Given the description of an element on the screen output the (x, y) to click on. 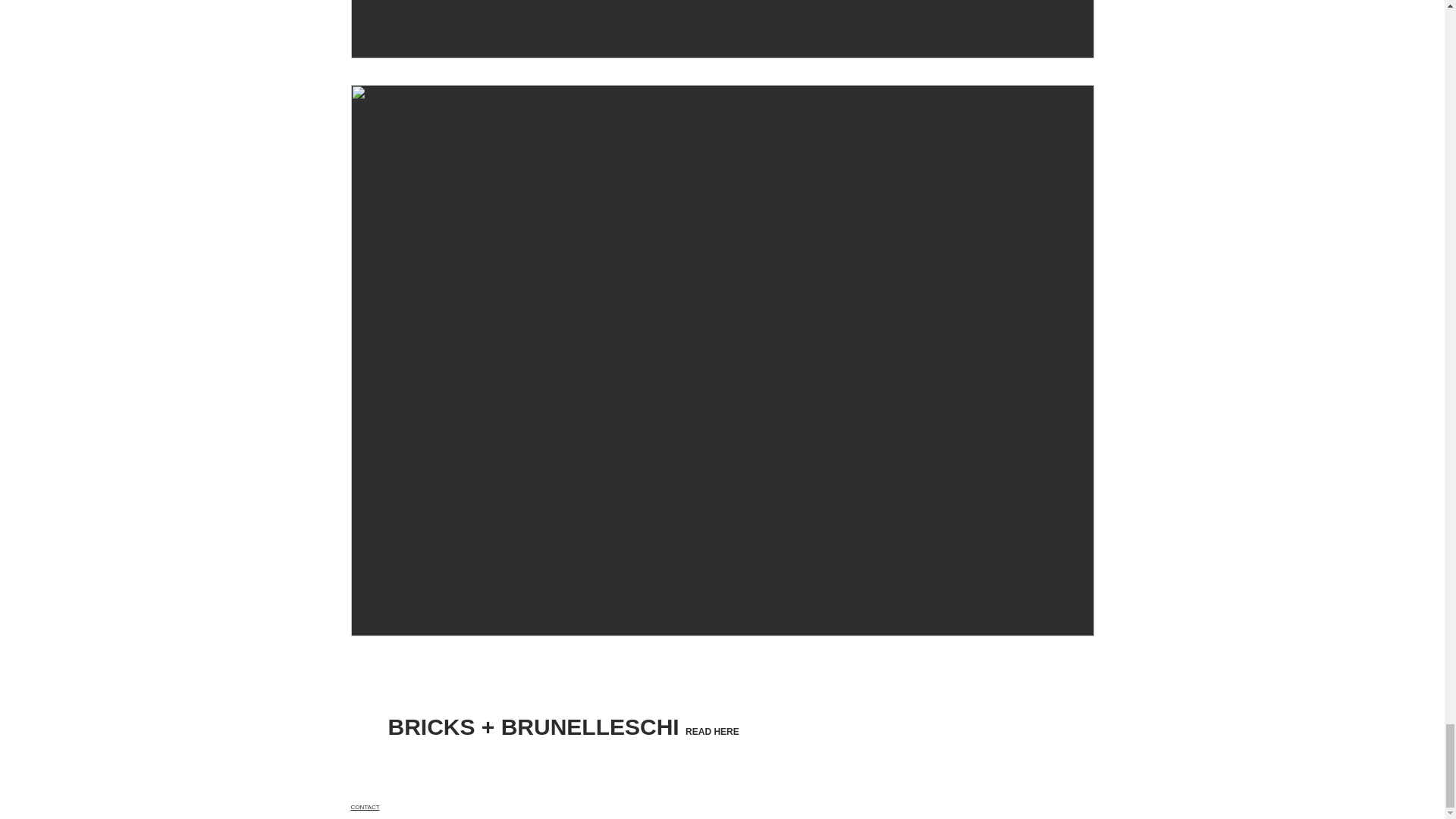
CONTACT (364, 806)
